Given the description of an element on the screen output the (x, y) to click on. 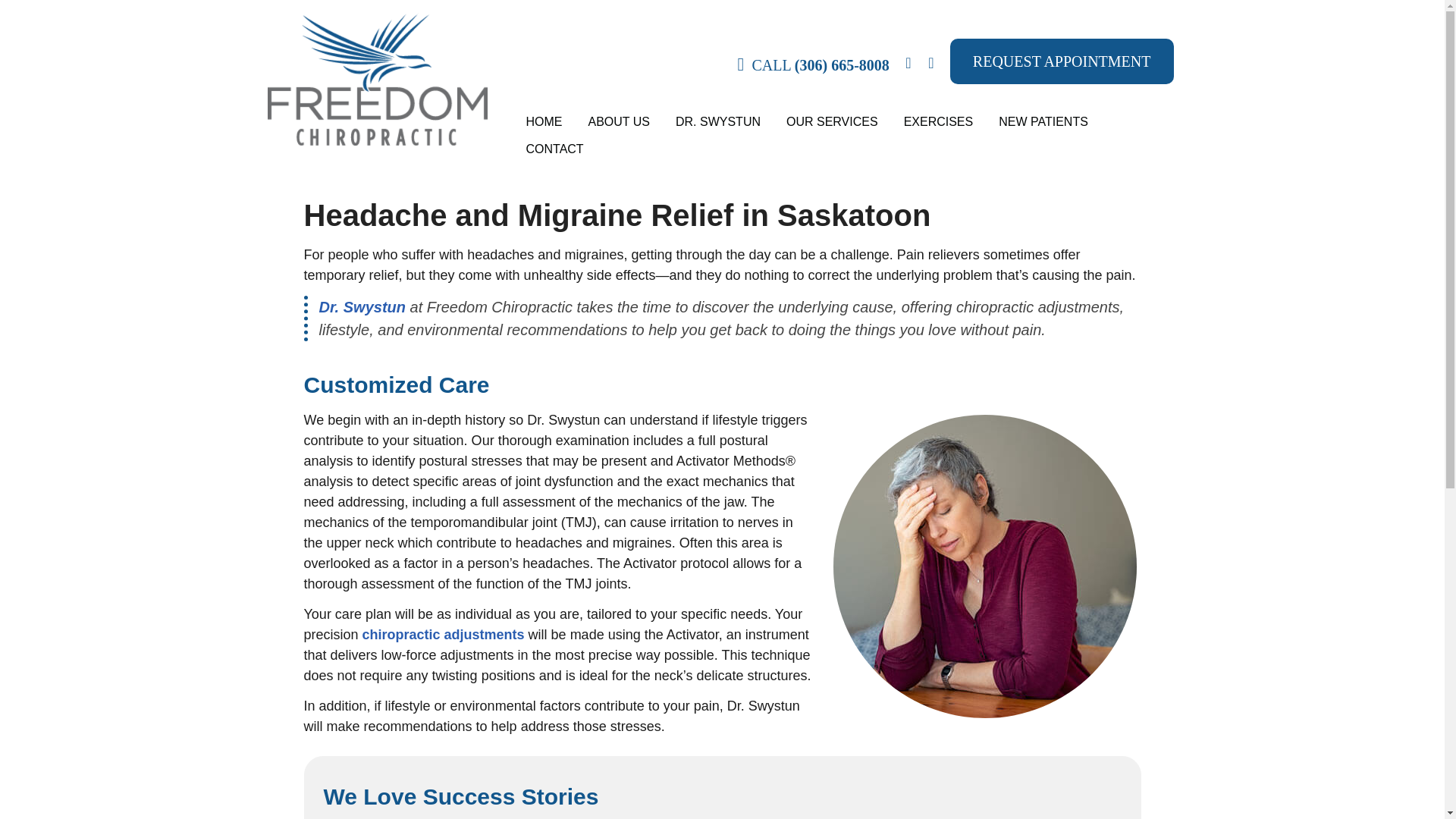
NEW PATIENTS (1042, 121)
Welcome to Freedom Chiropractic (376, 140)
OUR SERVICES (832, 121)
Freedom Chiropractic (376, 140)
Facebook Social Button (930, 64)
Google Social Button (908, 64)
EXERCISES (939, 121)
ABOUT US (618, 121)
REQUEST APPOINTMENT (1061, 61)
HOME (543, 121)
chiropractic adjustments (443, 634)
CONTACT (553, 148)
Dr. Swystun (361, 306)
DR. SWYSTUN (717, 121)
